Given the description of an element on the screen output the (x, y) to click on. 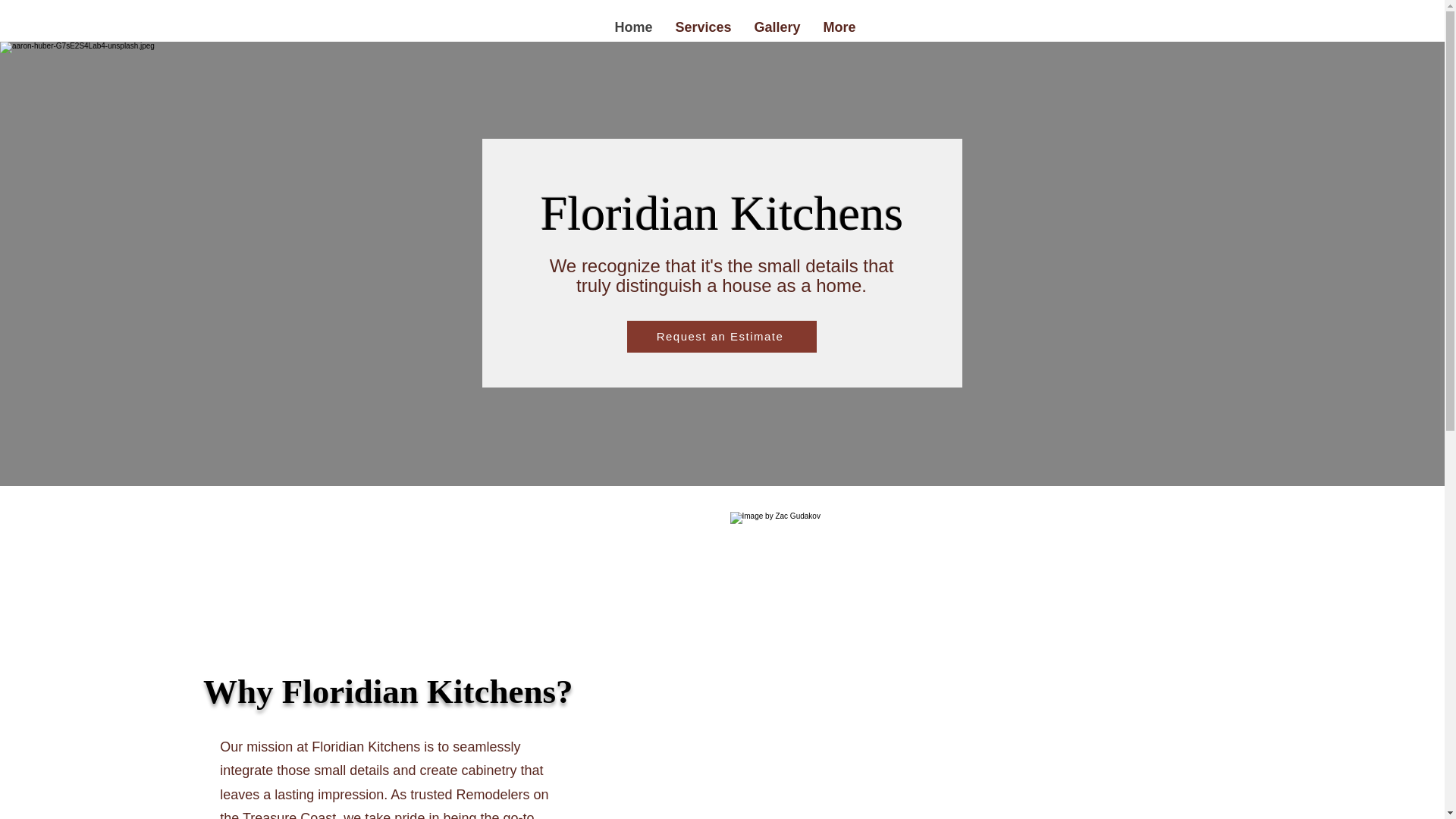
Request an Estimate (720, 336)
Home (633, 25)
Gallery (777, 25)
Services (702, 25)
